Given the description of an element on the screen output the (x, y) to click on. 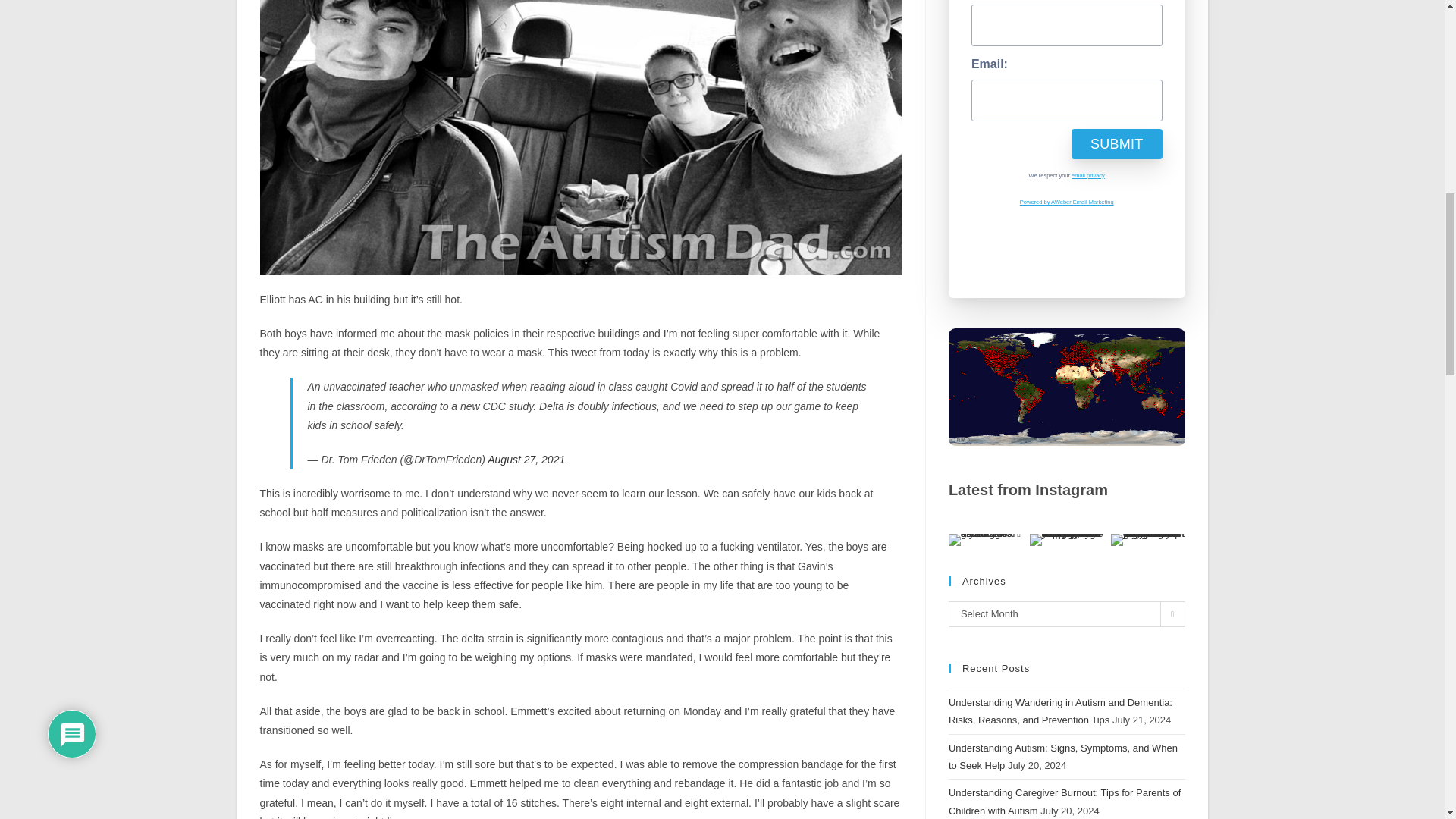
Submit (1116, 143)
